Given the description of an element on the screen output the (x, y) to click on. 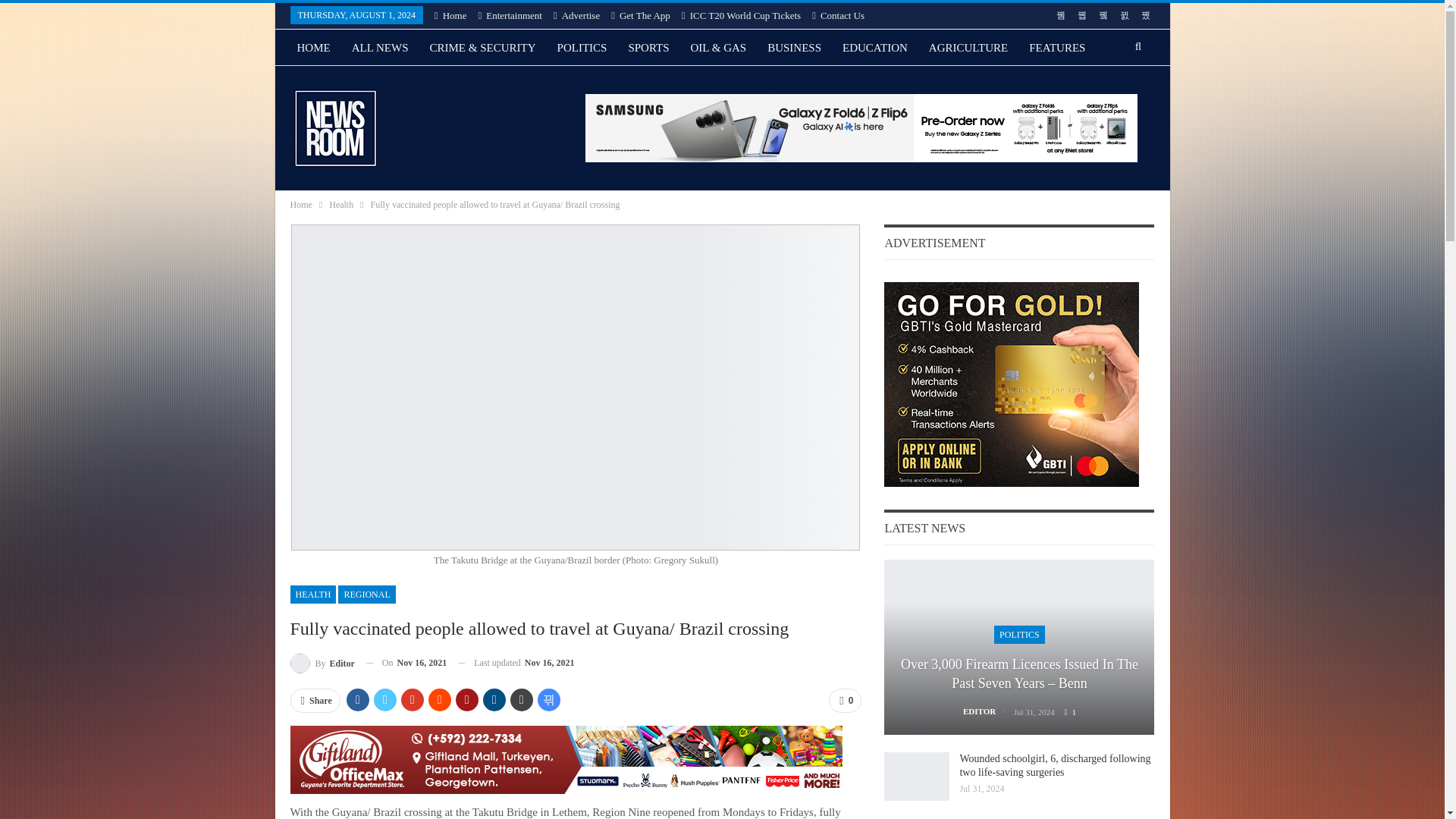
Health (341, 204)
Contact Us (838, 15)
HEALTH (312, 594)
LETTERS (386, 84)
Home (450, 15)
Browse Author Articles (321, 662)
REGIONAL (365, 594)
Home (300, 204)
Get The App (640, 15)
Entertainment (510, 15)
POLITICS (582, 47)
SPORTS (648, 47)
ICC T20 World Cup Tickets (740, 15)
EDUCATION (874, 47)
By Editor (321, 662)
